Given the description of an element on the screen output the (x, y) to click on. 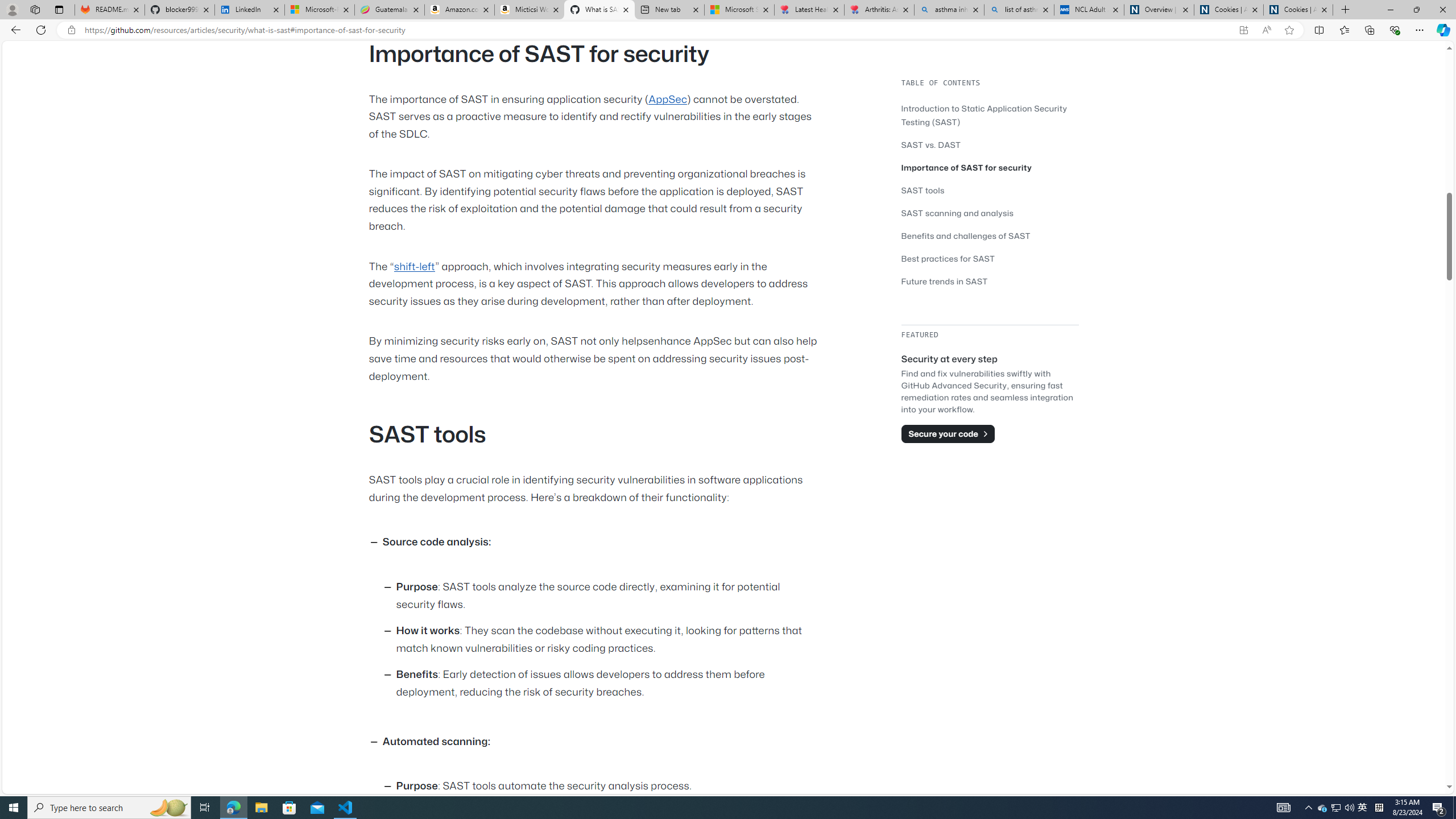
SAST scanning and analysis (957, 212)
Future trends in SAST (944, 280)
Purpose: SAST tools automate the security analysis process. (608, 787)
Benefits and challenges of SAST (965, 235)
App available. Install GitHub (1243, 29)
LinkedIn (249, 9)
shift-left (414, 266)
